Given the description of an element on the screen output the (x, y) to click on. 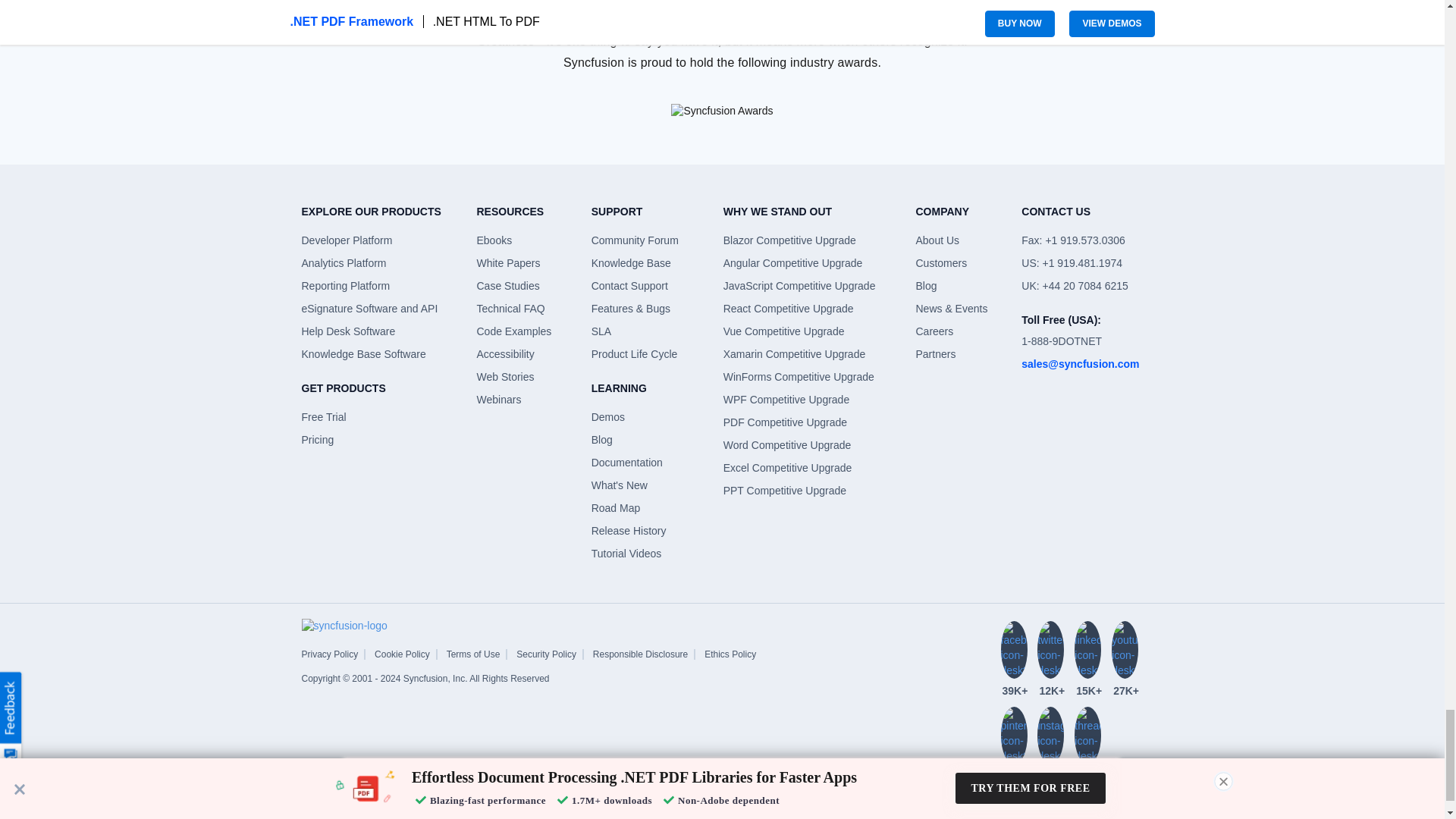
Syncfusion (344, 625)
